Given the description of an element on the screen output the (x, y) to click on. 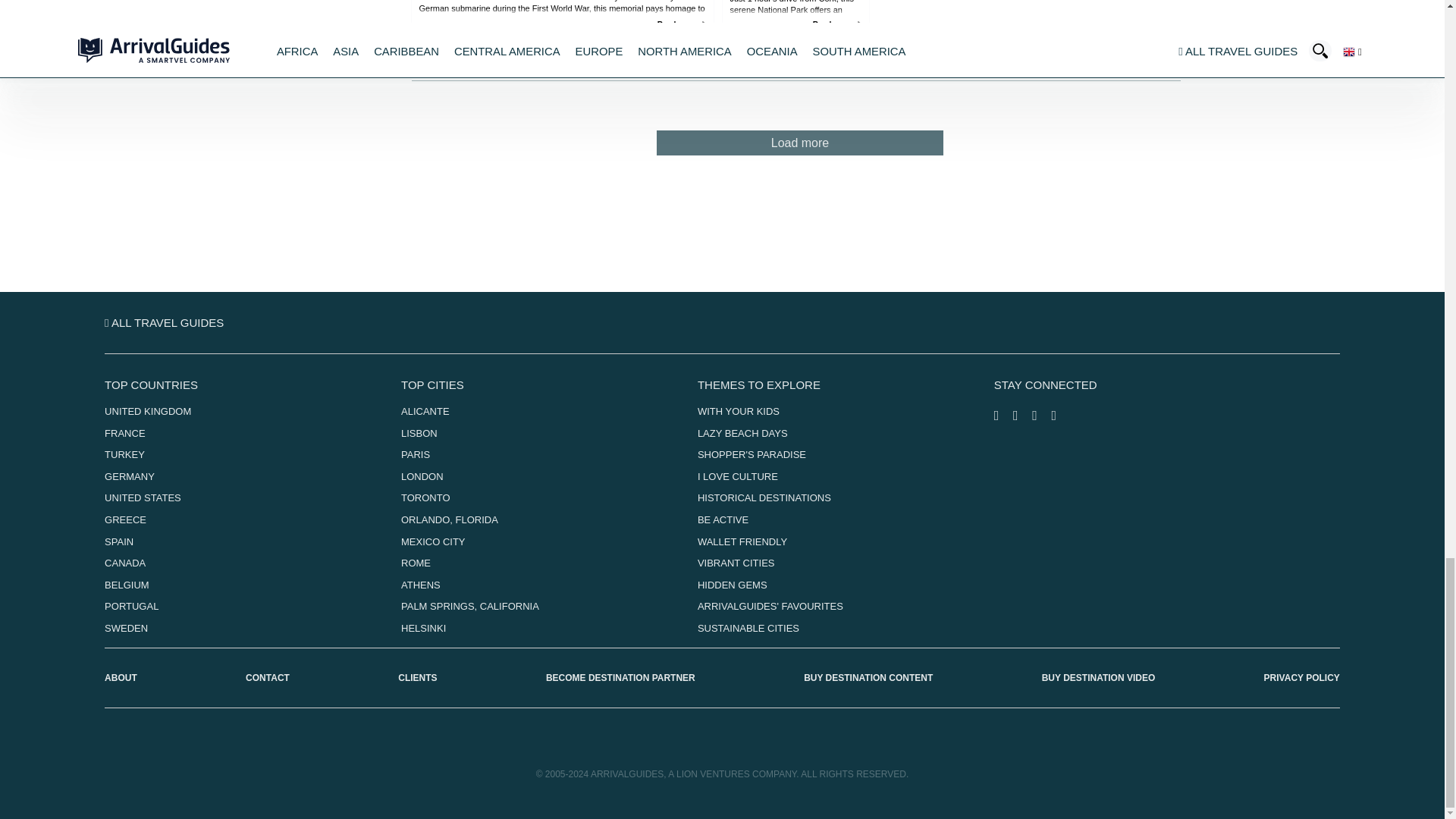
Instagram (1022, 416)
Twitter (1041, 416)
Youtube (1059, 416)
Facebook (1003, 416)
